Given the description of an element on the screen output the (x, y) to click on. 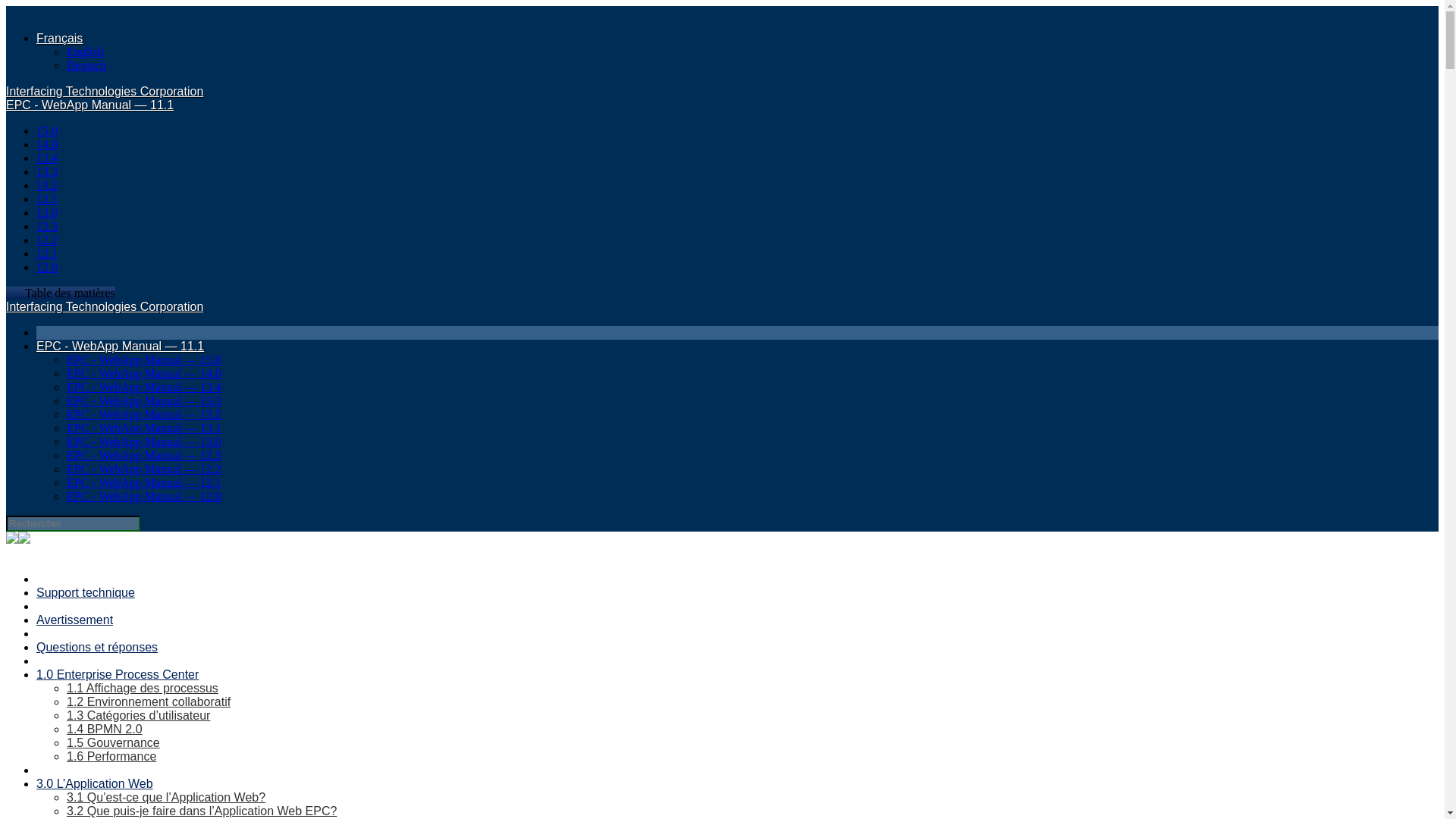
Interfacing Technologies Corporation (104, 306)
14.0 (47, 144)
Support technique (85, 592)
Interfacing Technologies Corporation (104, 91)
1.0 Enterprise Process Center (117, 674)
13.0 (47, 212)
13.1 (47, 198)
13.4 (47, 157)
13.2 (47, 185)
English (84, 51)
Avertissement (74, 619)
13.3 (47, 171)
12.3 (47, 226)
12.0 (47, 267)
Deutsch (86, 65)
